Given the description of an element on the screen output the (x, y) to click on. 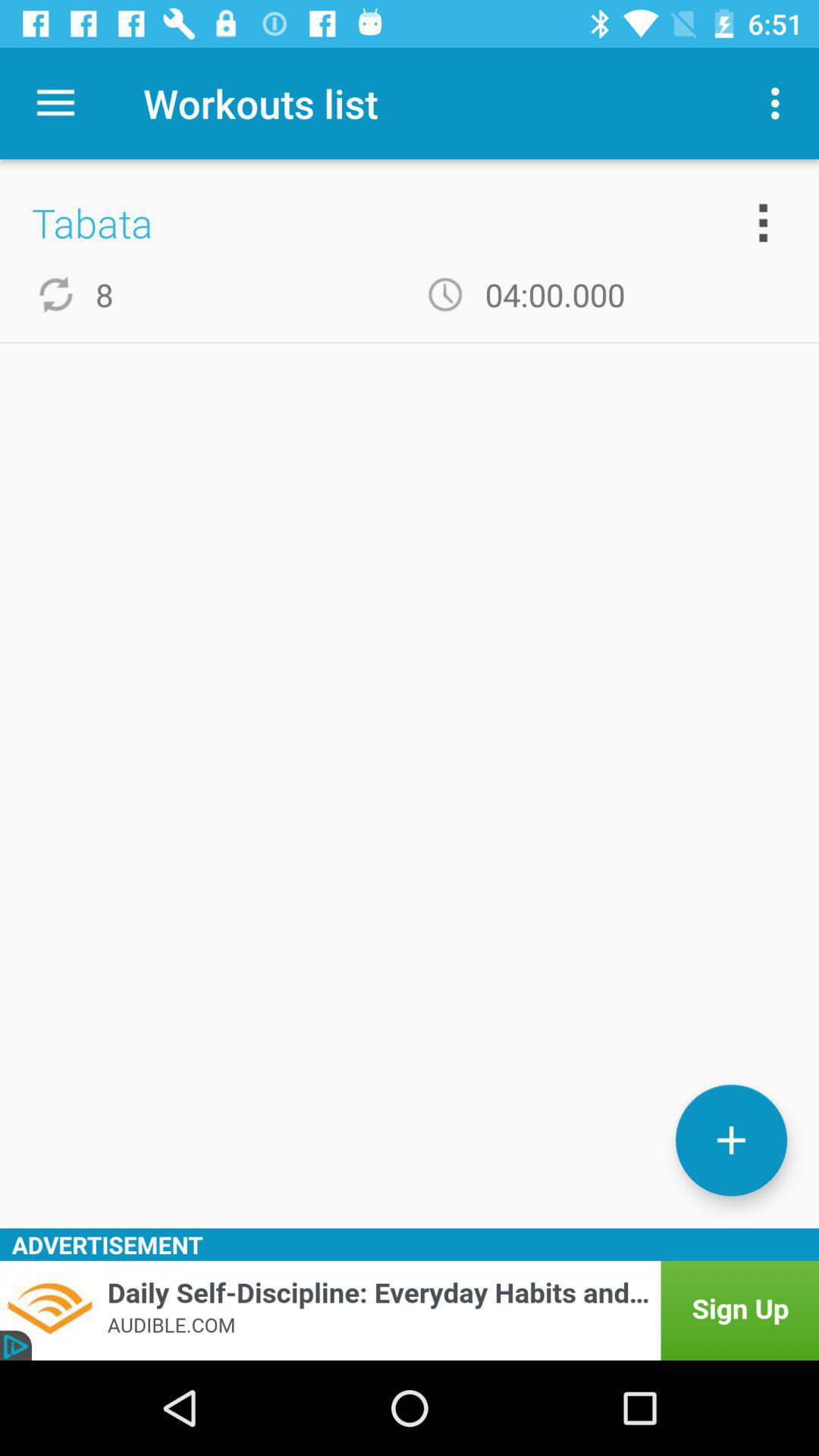
turn off the icon to the left of workouts list icon (55, 103)
